Given the description of an element on the screen output the (x, y) to click on. 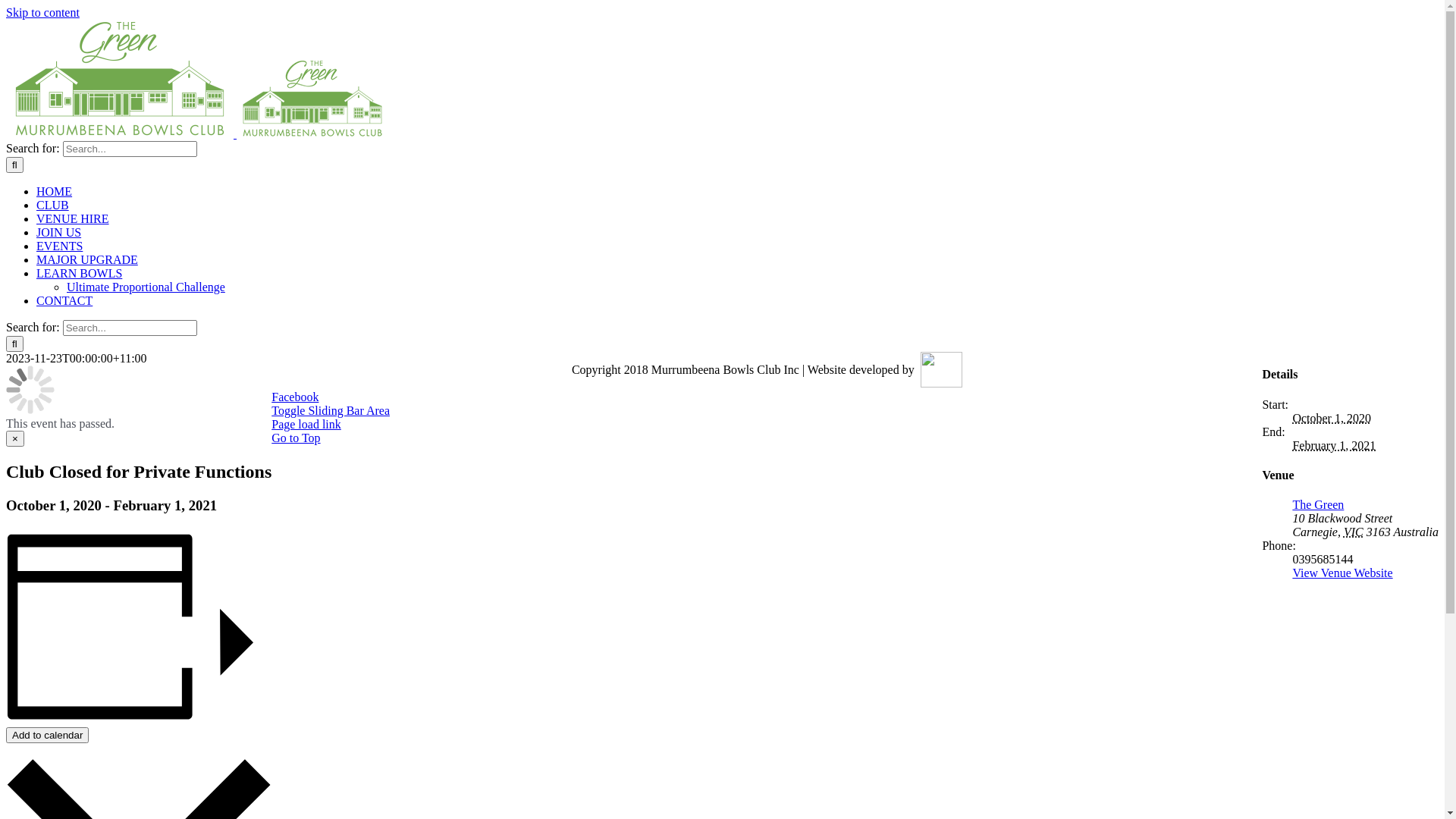
CONTACT Element type: text (64, 300)
Ultimate Proportional Challenge Element type: text (145, 286)
EVENTS Element type: text (59, 245)
MAJOR UPGRADE Element type: text (87, 259)
The Green Element type: text (1317, 504)
LEARN BOWLS Element type: text (79, 272)
Facebook Element type: text (294, 396)
CLUB Element type: text (52, 204)
VENUE HIRE Element type: text (72, 218)
Skip to content Element type: text (42, 12)
JOIN US Element type: text (58, 231)
Page load link Element type: text (306, 423)
HOME Element type: text (54, 191)
Go to Top Element type: text (295, 437)
View Venue Website Element type: text (1342, 572)
Toggle Sliding Bar Area Element type: text (330, 410)
Add to calendar Element type: text (47, 735)
